Given the description of an element on the screen output the (x, y) to click on. 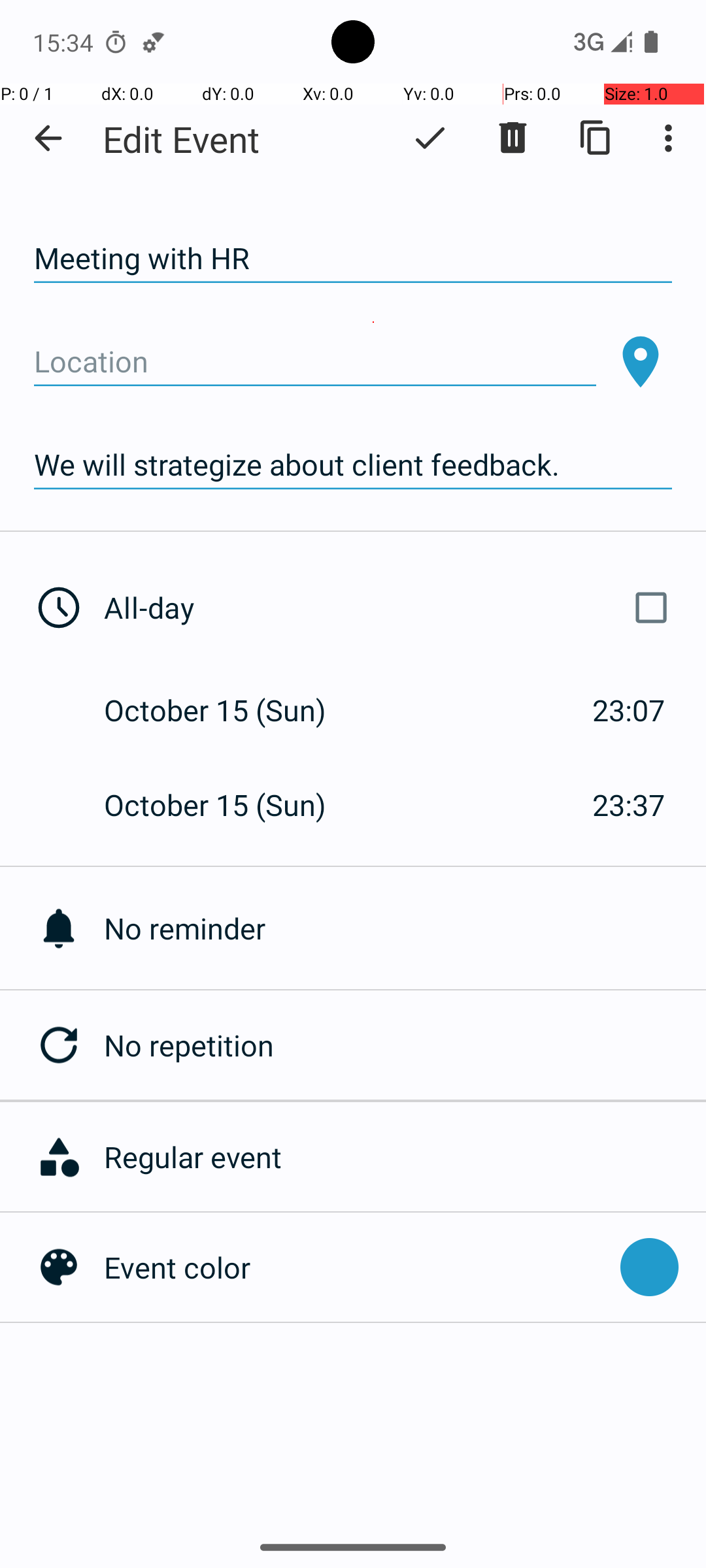
We will strategize about client feedback. Element type: android.widget.EditText (352, 465)
23:07 Element type: android.widget.TextView (628, 709)
23:37 Element type: android.widget.TextView (628, 804)
